Given the description of an element on the screen output the (x, y) to click on. 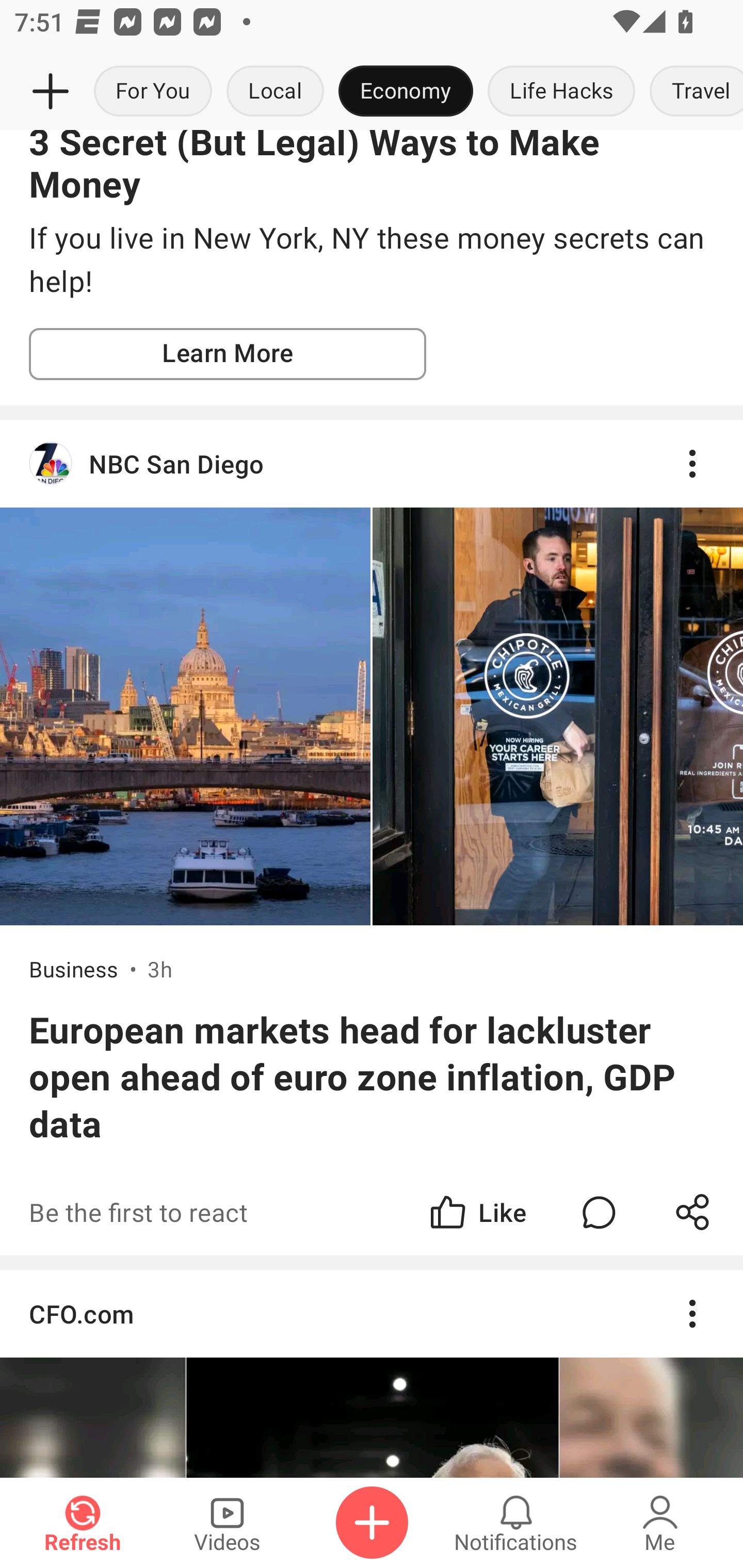
For You (152, 91)
Local (275, 91)
Economy (405, 91)
Life Hacks (561, 91)
Travel (692, 91)
3 Secret (But Legal) Ways to Make Money (371, 168)
Learn More (227, 353)
NBC San Diego (371, 464)
Be the first to react (244, 1211)
Like (476, 1211)
CFO.com (371, 1373)
CFO.com (371, 1313)
Videos (227, 1522)
Notifications (516, 1522)
Me (659, 1522)
